Given the description of an element on the screen output the (x, y) to click on. 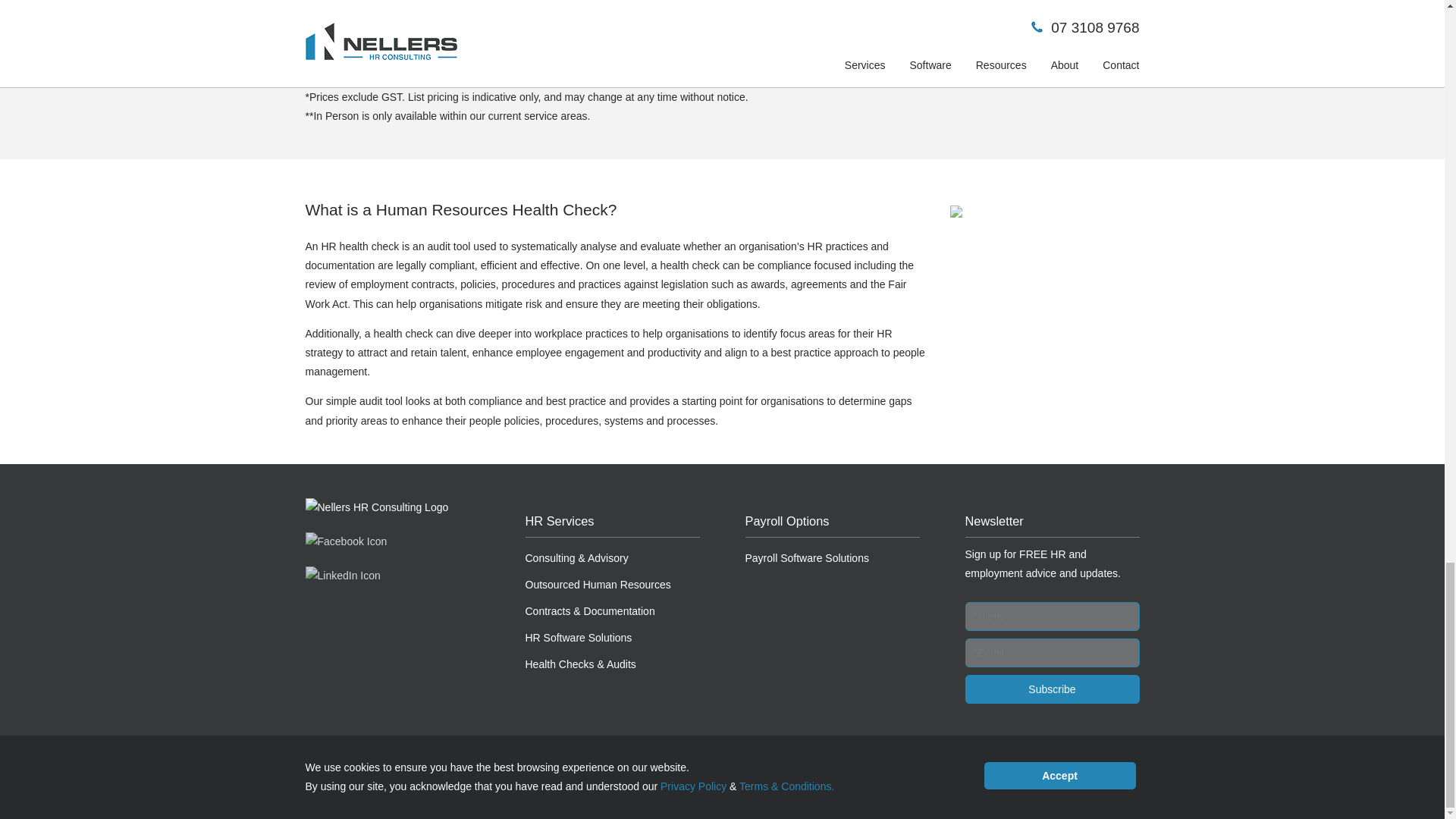
Nellers HR Consulting (376, 506)
Subscribe (1050, 688)
